Given the description of an element on the screen output the (x, y) to click on. 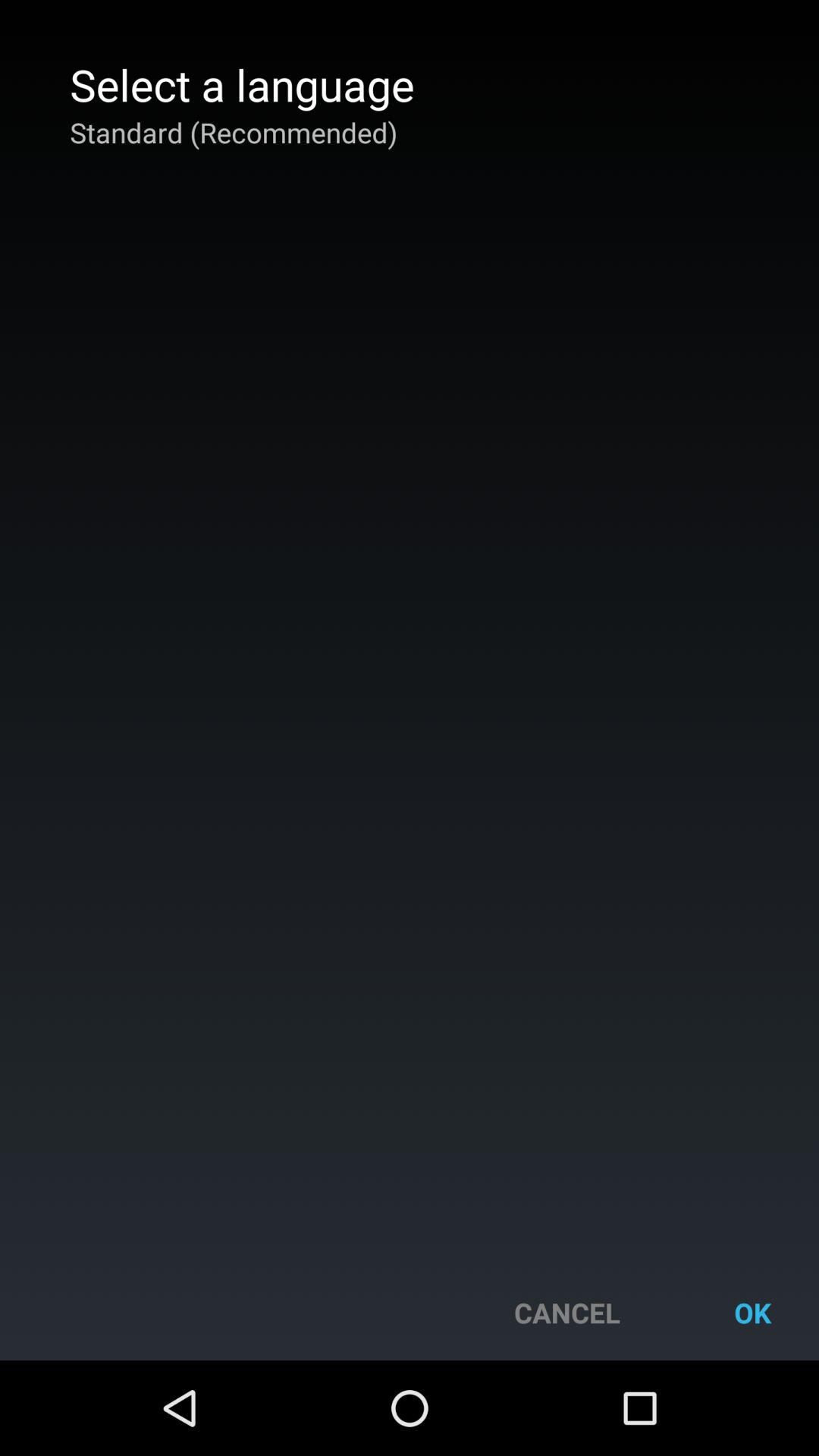
scroll until ok icon (752, 1312)
